Given the description of an element on the screen output the (x, y) to click on. 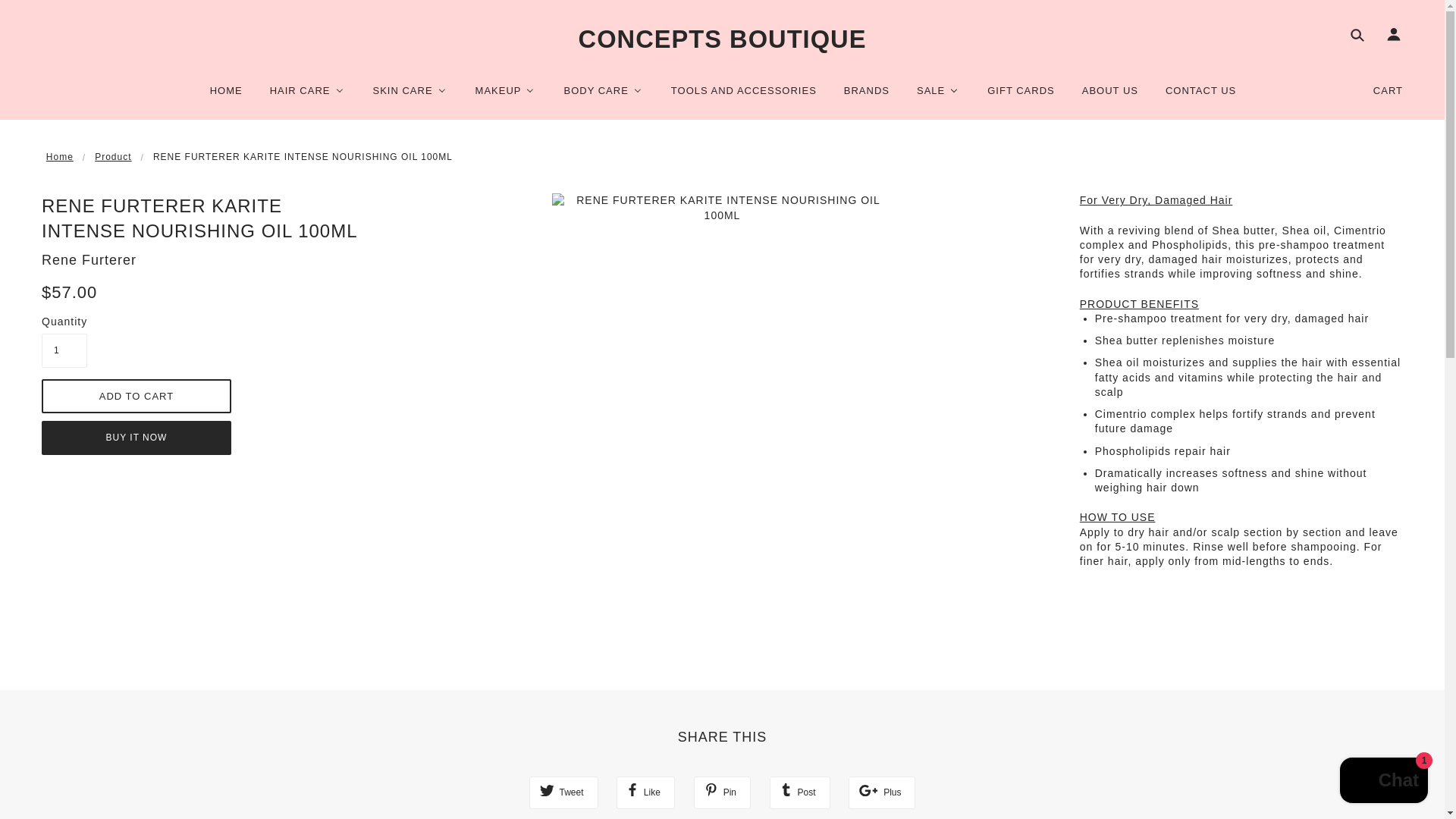
Add to Cart (136, 396)
Shopify online store chat (1383, 781)
1 (64, 350)
